Given the description of an element on the screen output the (x, y) to click on. 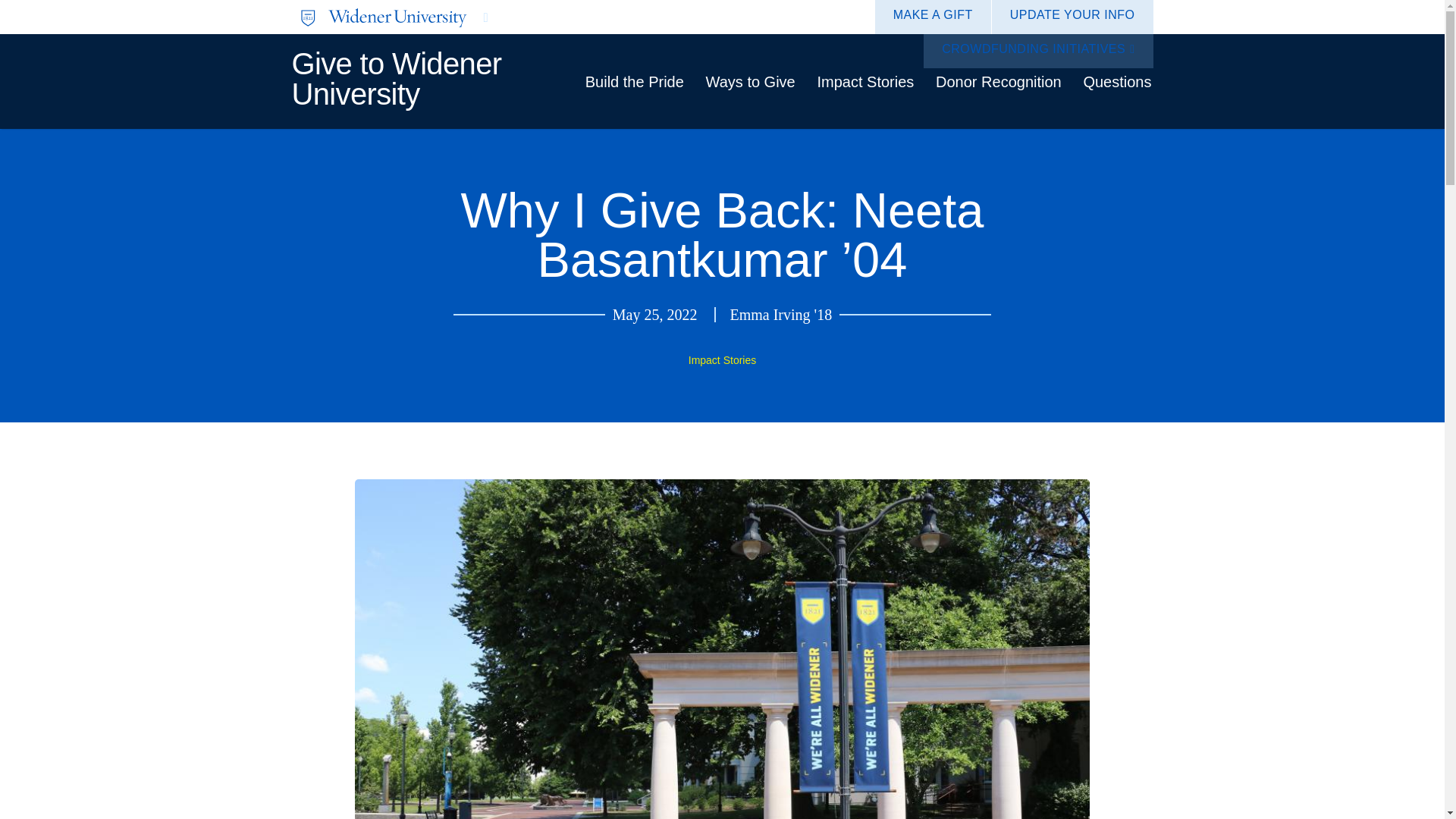
Build the Pride (634, 81)
Impact Stories (865, 81)
Ways to Give (751, 81)
UPDATE YOUR INFO (1072, 17)
Ways to Give (751, 81)
Give to Widener University (395, 77)
Give to Widener University (395, 77)
Donor Recognition (998, 81)
Questions (1117, 81)
Impact Stories (721, 359)
CROWDFUNDING INITIATIVES (1038, 50)
Go to www.widener.edu (506, 16)
MAKE A GIFT (933, 17)
Questions (1117, 81)
